Given the description of an element on the screen output the (x, y) to click on. 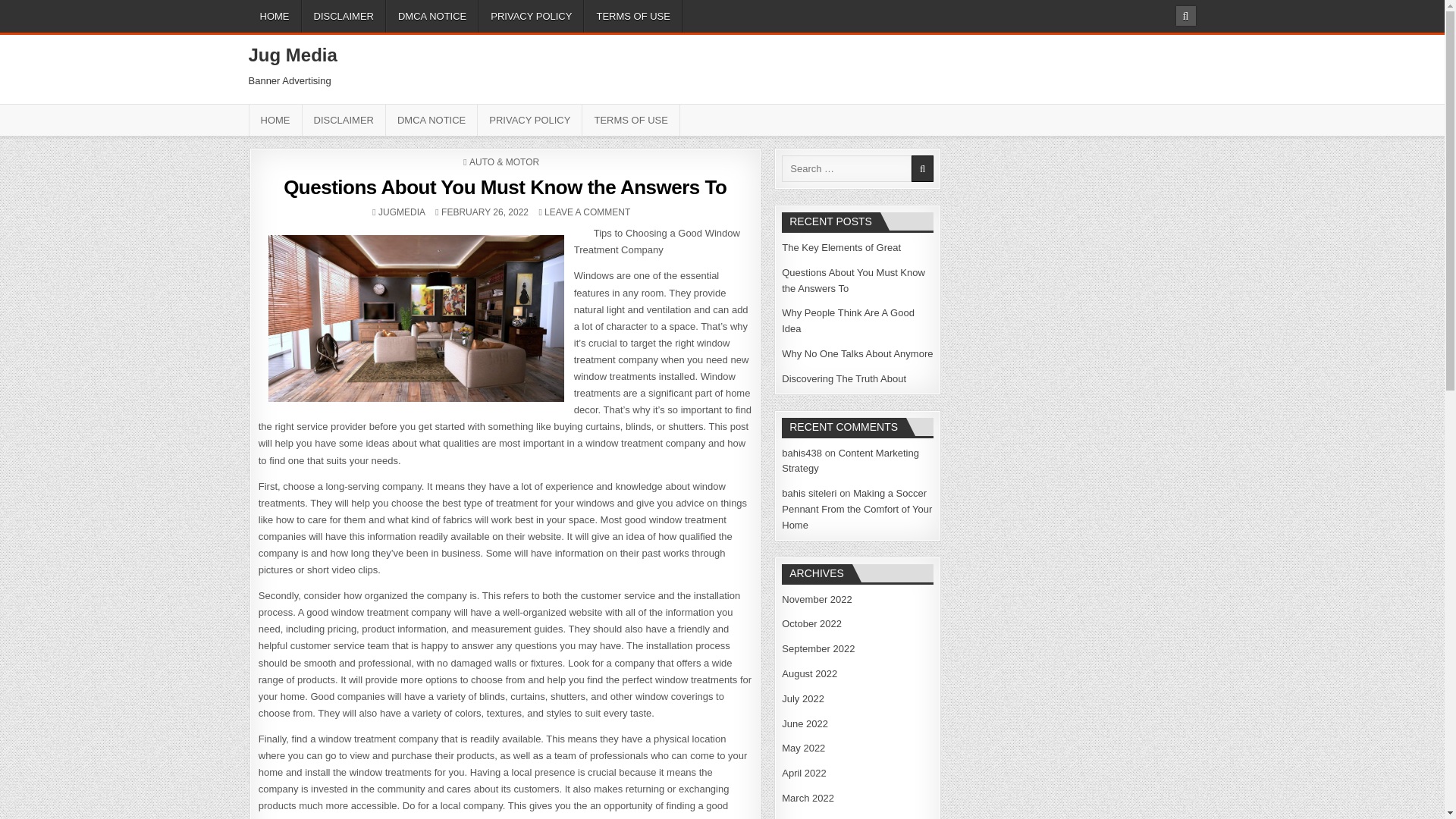
PRIVACY POLICY (529, 119)
bahis siteleri (808, 492)
TERMS OF USE (632, 16)
Search (1184, 15)
October 2022 (811, 623)
DISCLAIMER (343, 16)
TERMS OF USE (630, 119)
Questions About You Must Know the Answers To (504, 187)
Making a Soccer Pennant From the Comfort of Your Home (856, 508)
DMCA NOTICE (432, 16)
Jug Media (292, 55)
HOME (274, 16)
Why No One Talks About Anymore (401, 212)
